Given the description of an element on the screen output the (x, y) to click on. 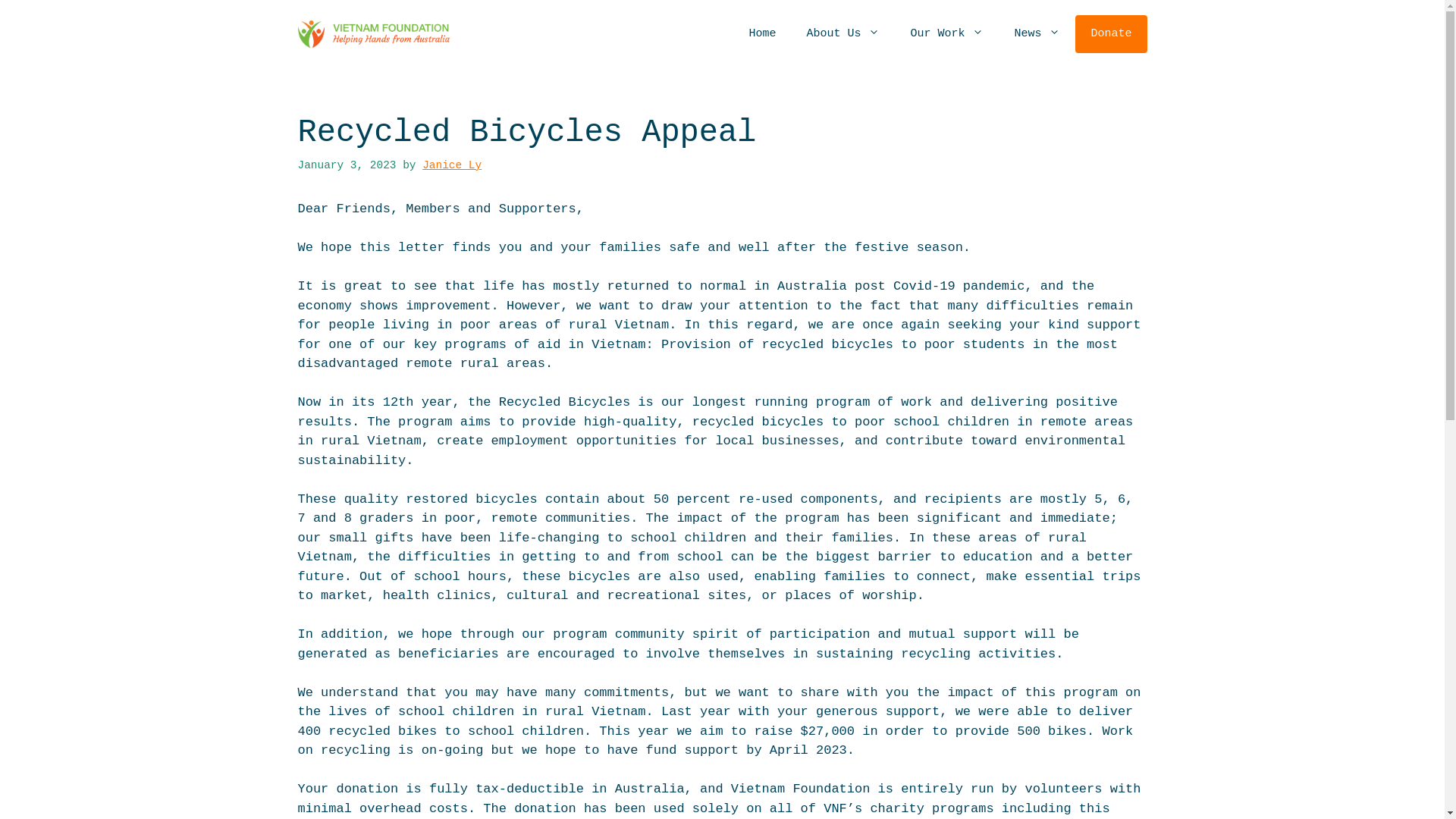
Our Work Element type: text (946, 34)
News Element type: text (1036, 34)
Janice Ly Element type: text (451, 165)
Home Element type: text (761, 34)
Donate Element type: text (1110, 34)
About Us Element type: text (842, 34)
